Given the description of an element on the screen output the (x, y) to click on. 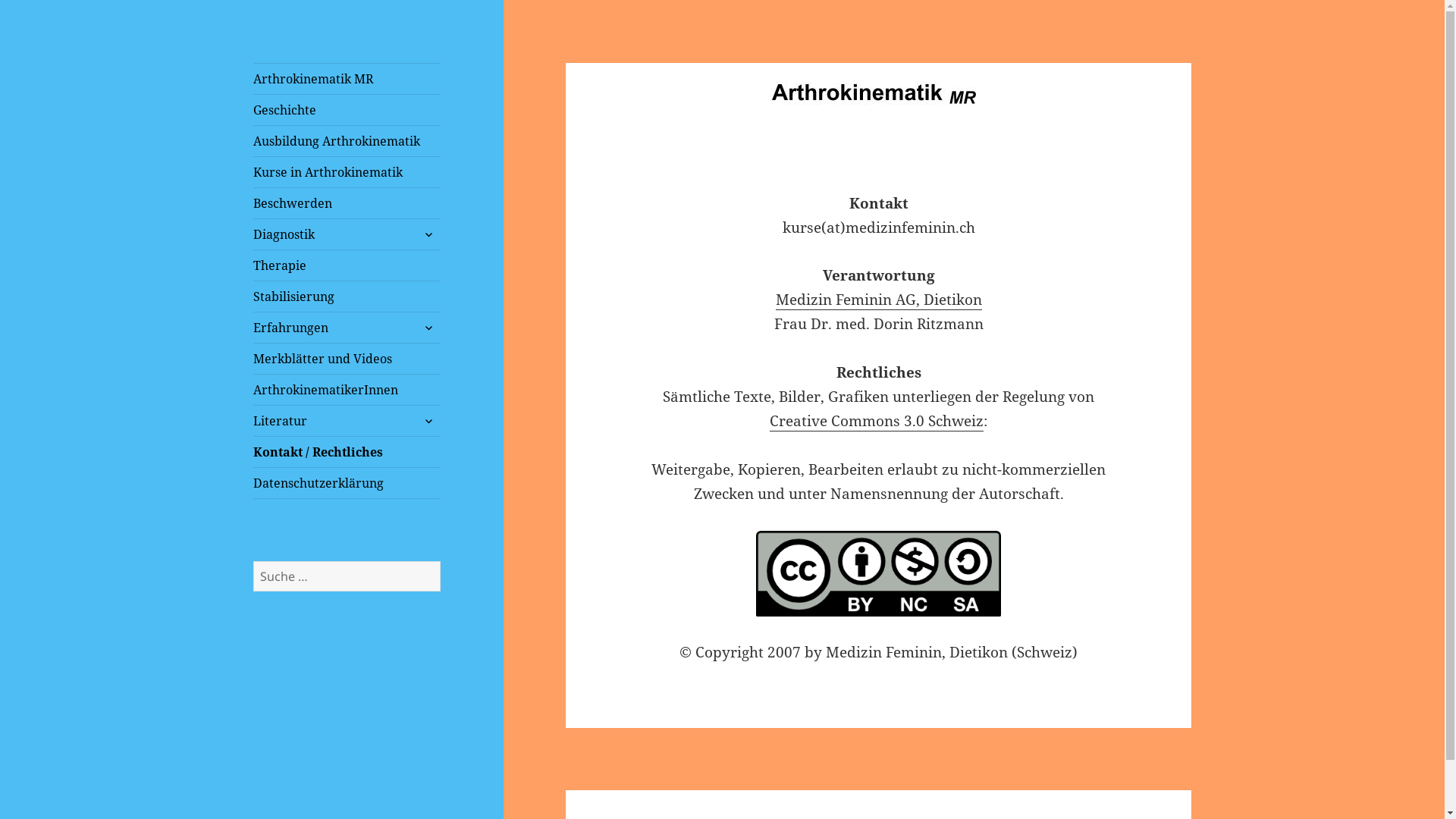
Therapie Element type: text (347, 265)
Erfahrungen Element type: text (347, 327)
Arthrokinematik MR Element type: text (339, 86)
Kontakt / Rechtliches Element type: text (347, 451)
Creative Commons 3.0 Schweiz Element type: text (876, 421)
Medizin Feminin AG, Dietikon Element type: text (878, 299)
Kurse in Arthrokinematik Element type: text (347, 171)
Beschwerden Element type: text (347, 203)
Arthrokinematik MR Element type: text (347, 78)
Geschichte Element type: text (347, 109)
Suche Element type: text (439, 560)
Diagnostik Element type: text (347, 234)
Stabilisierung Element type: text (347, 296)
Ausbildung Arthrokinematik Element type: text (347, 140)
ArthrokinematikerInnen Element type: text (347, 389)
Literatur Element type: text (347, 420)
